Given the description of an element on the screen output the (x, y) to click on. 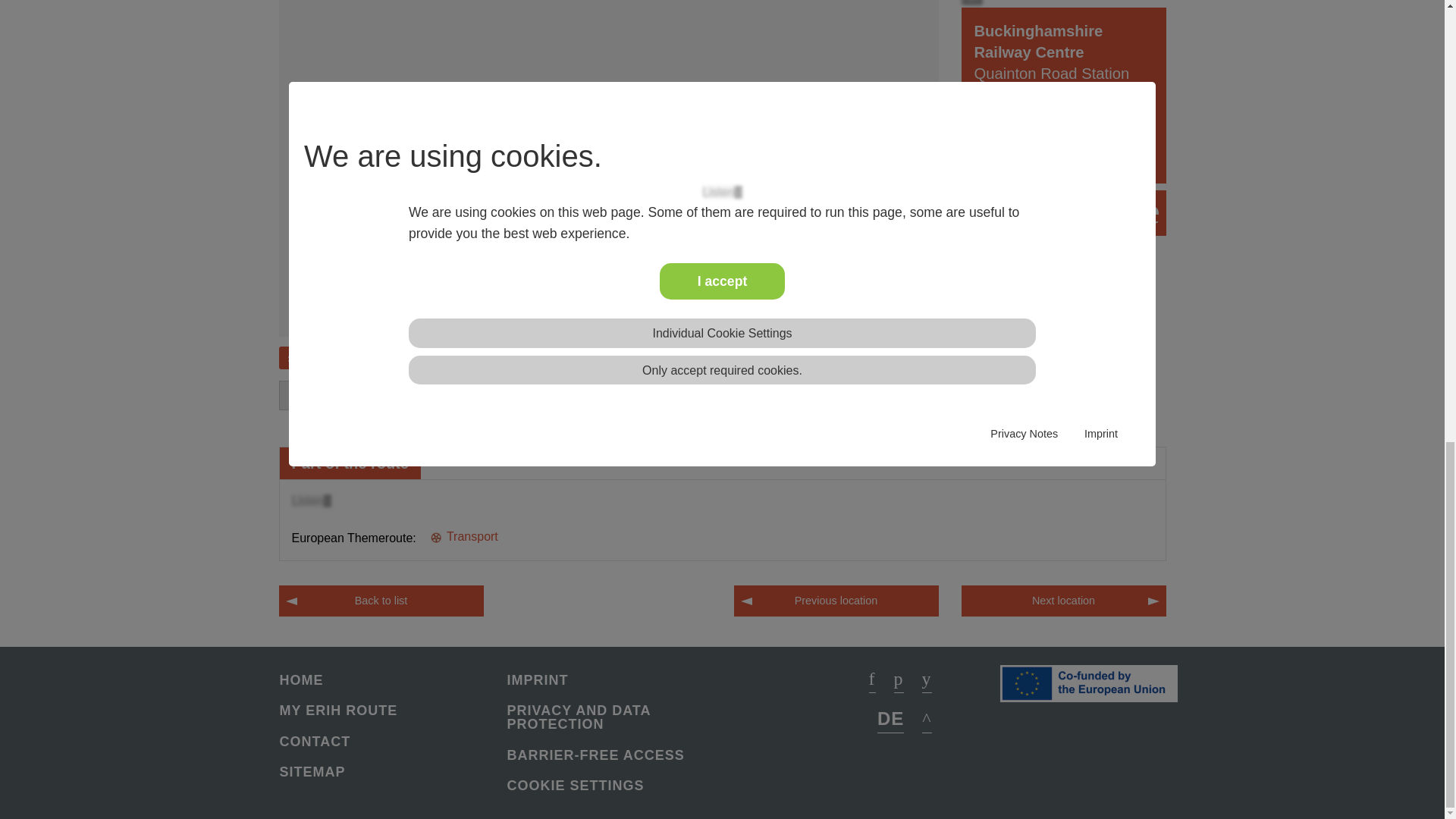
Go (916, 395)
